Given the description of an element on the screen output the (x, y) to click on. 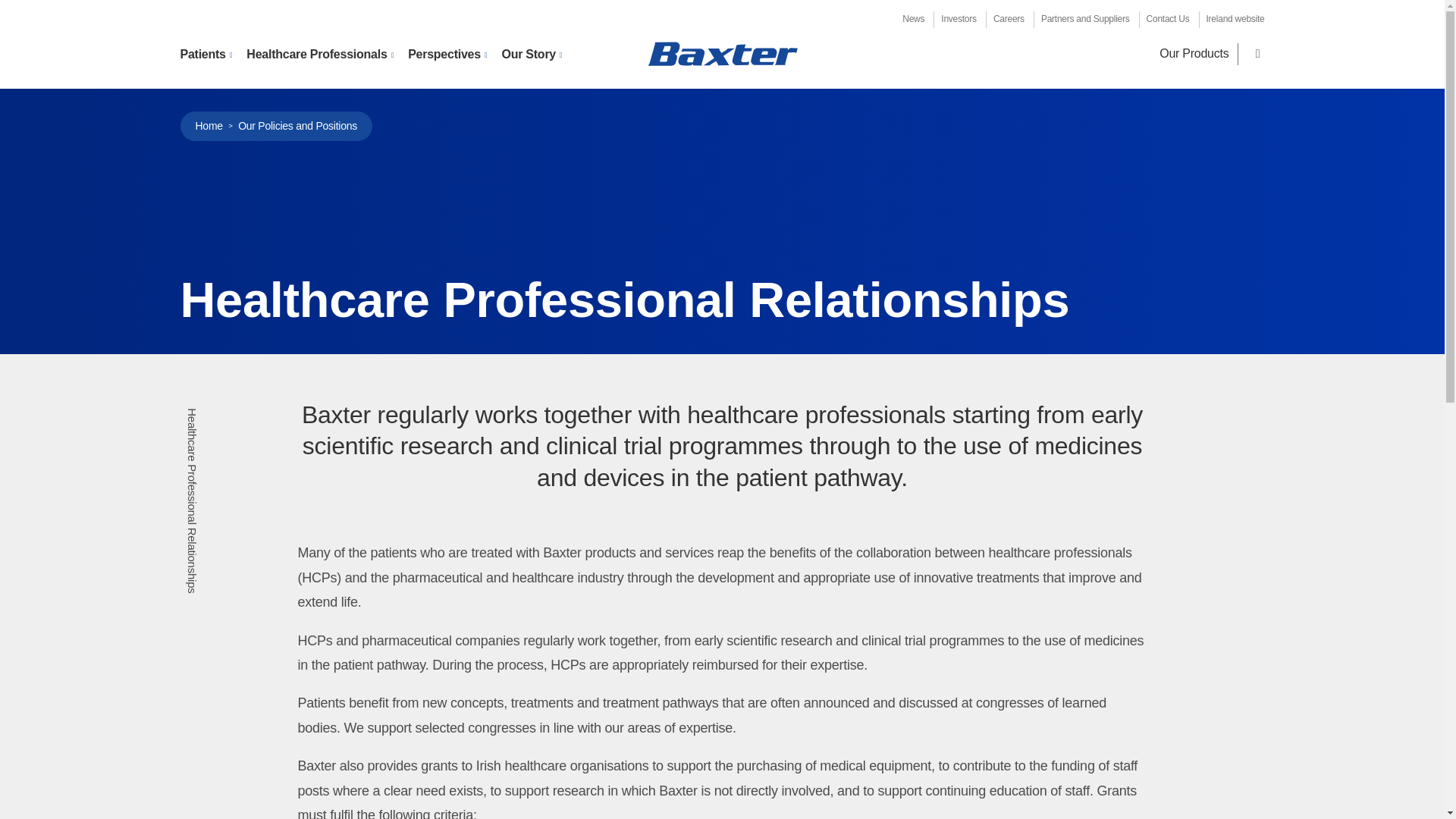
Ireland website (1236, 18)
Partners and Suppliers (1085, 18)
News (913, 18)
Our Products (1193, 52)
Contact Us (1168, 18)
Perspectives (446, 55)
Careers (1008, 18)
Healthcare Professionals (319, 55)
Investors (957, 18)
Our Story (531, 55)
